Given the description of an element on the screen output the (x, y) to click on. 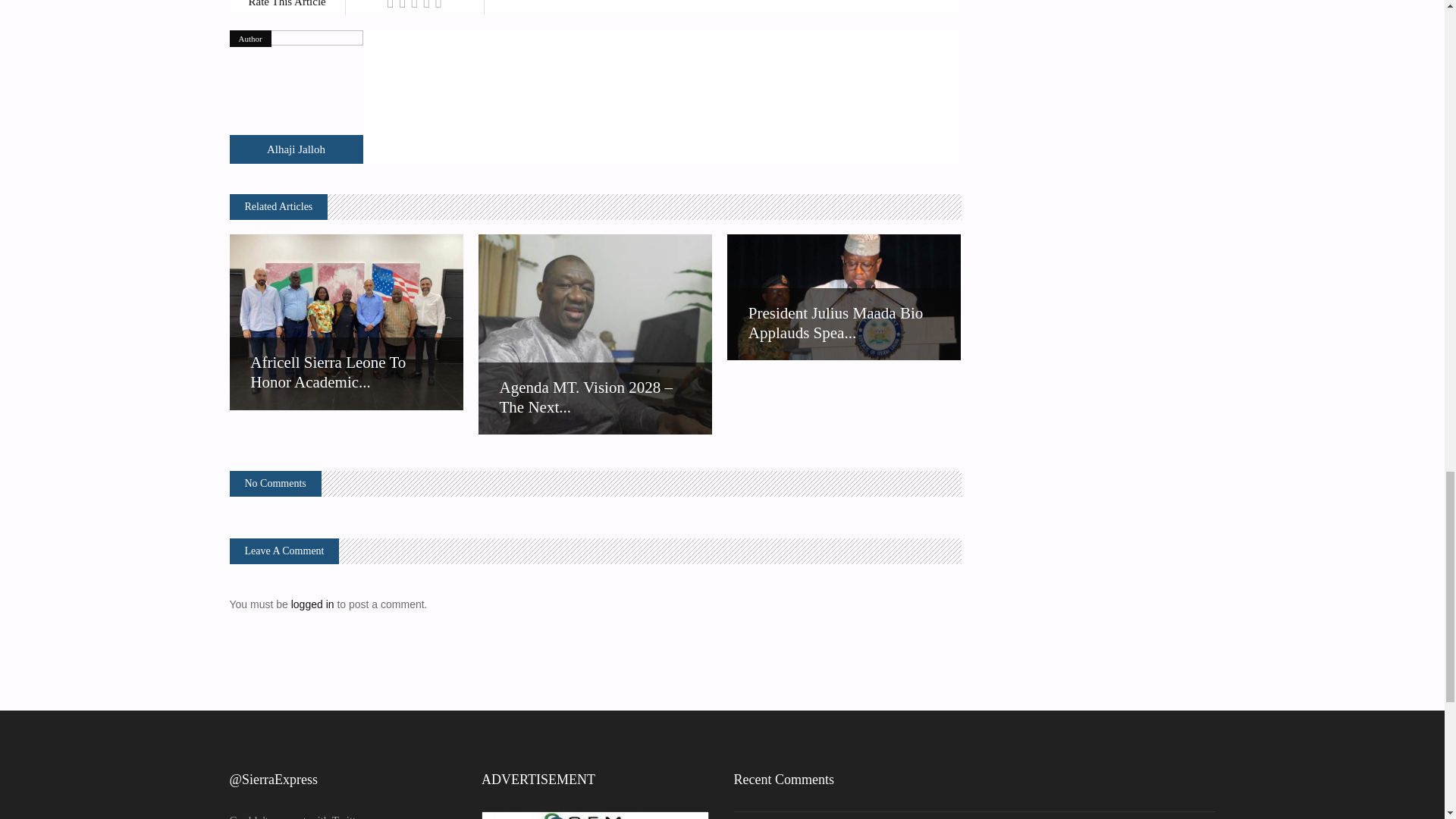
800 Sierra Leone Pilgrims start their journey back home (295, 149)
800 Sierra Leone Pilgrims start their journey back home (295, 96)
